Given the description of an element on the screen output the (x, y) to click on. 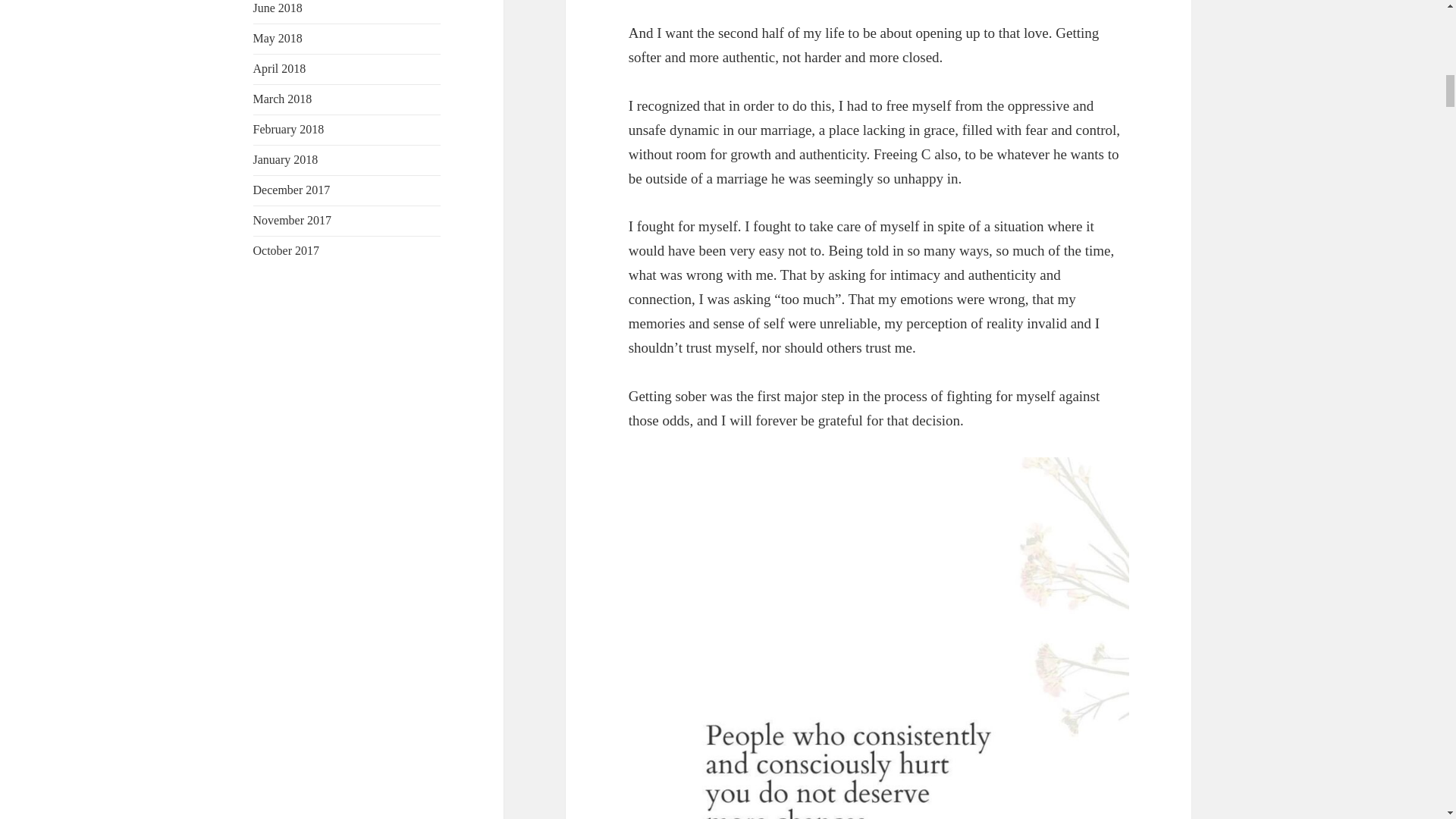
October 2017 (286, 250)
November 2017 (292, 219)
January 2018 (285, 159)
June 2018 (277, 7)
April 2018 (279, 68)
March 2018 (283, 98)
February 2018 (288, 128)
December 2017 (291, 189)
May 2018 (277, 38)
